Given the description of an element on the screen output the (x, y) to click on. 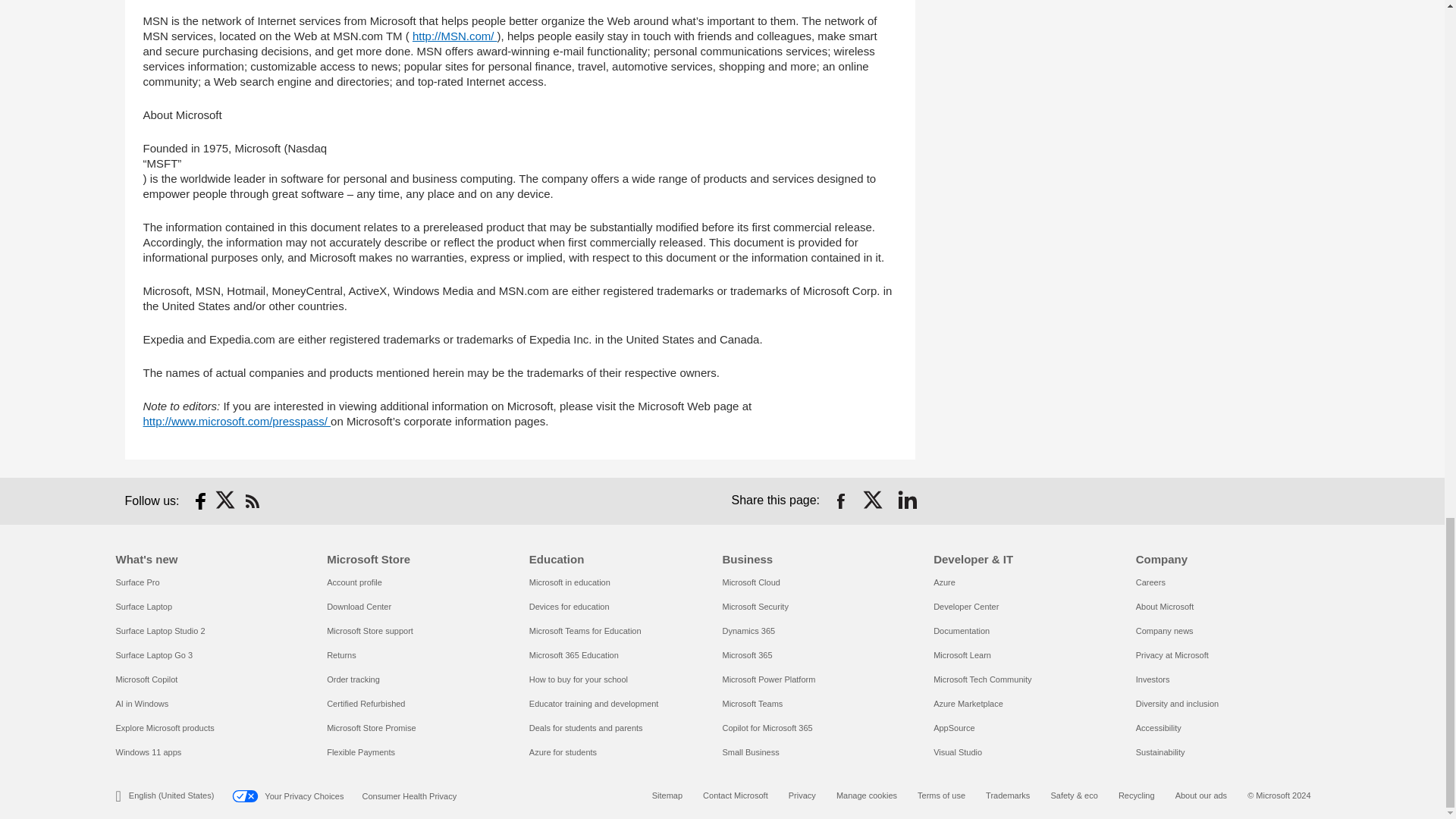
RSS Subscription (252, 500)
Share on LinkedIn (907, 500)
Share on Facebook (840, 500)
Follow on Twitter (226, 500)
Follow on Facebook (200, 500)
Share on Twitter (873, 500)
